Given the description of an element on the screen output the (x, y) to click on. 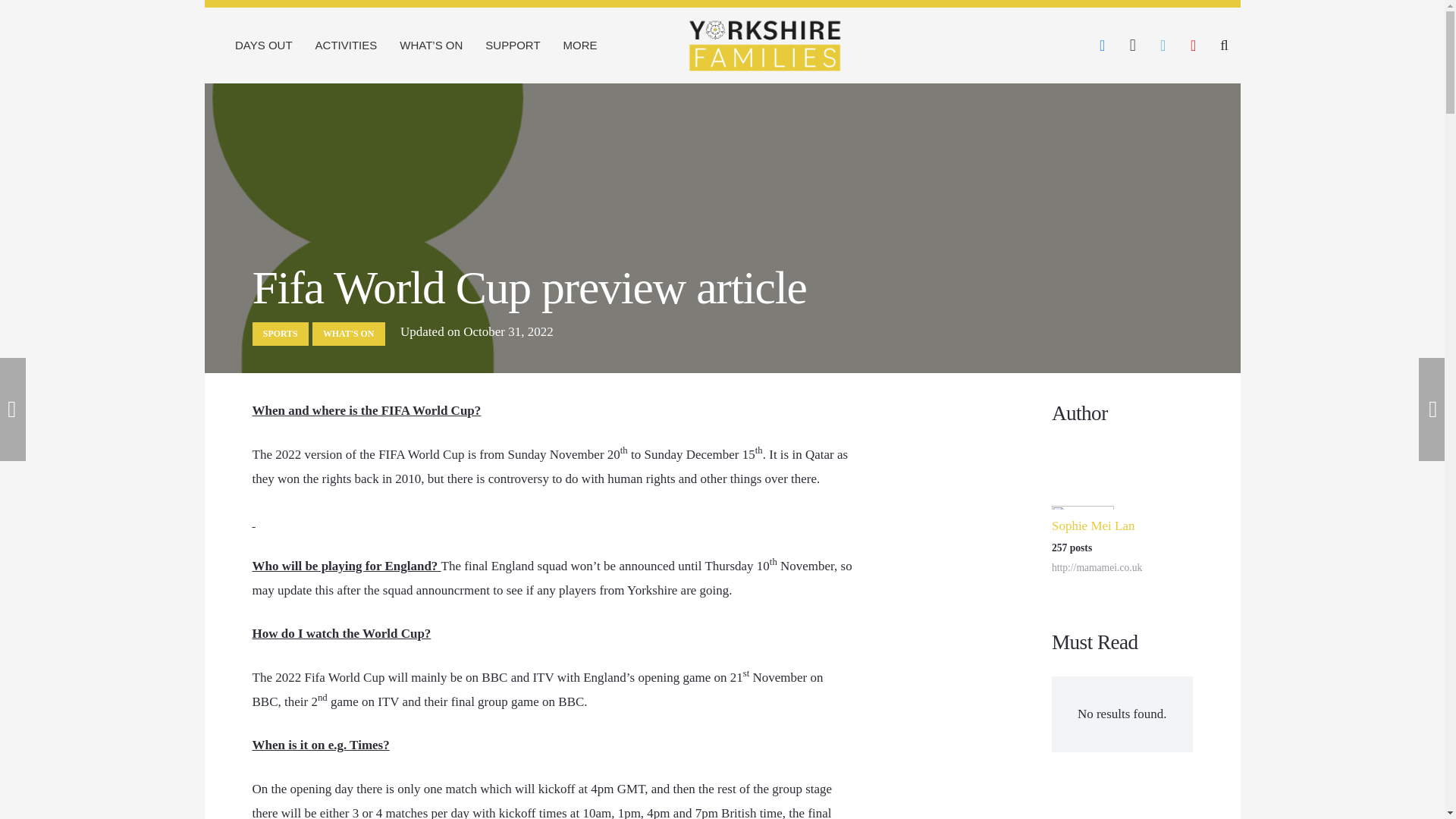
SUPPORT (512, 45)
DAYS OUT (264, 45)
Facebook (1102, 45)
ACTIVITIES (346, 45)
